Given the description of an element on the screen output the (x, y) to click on. 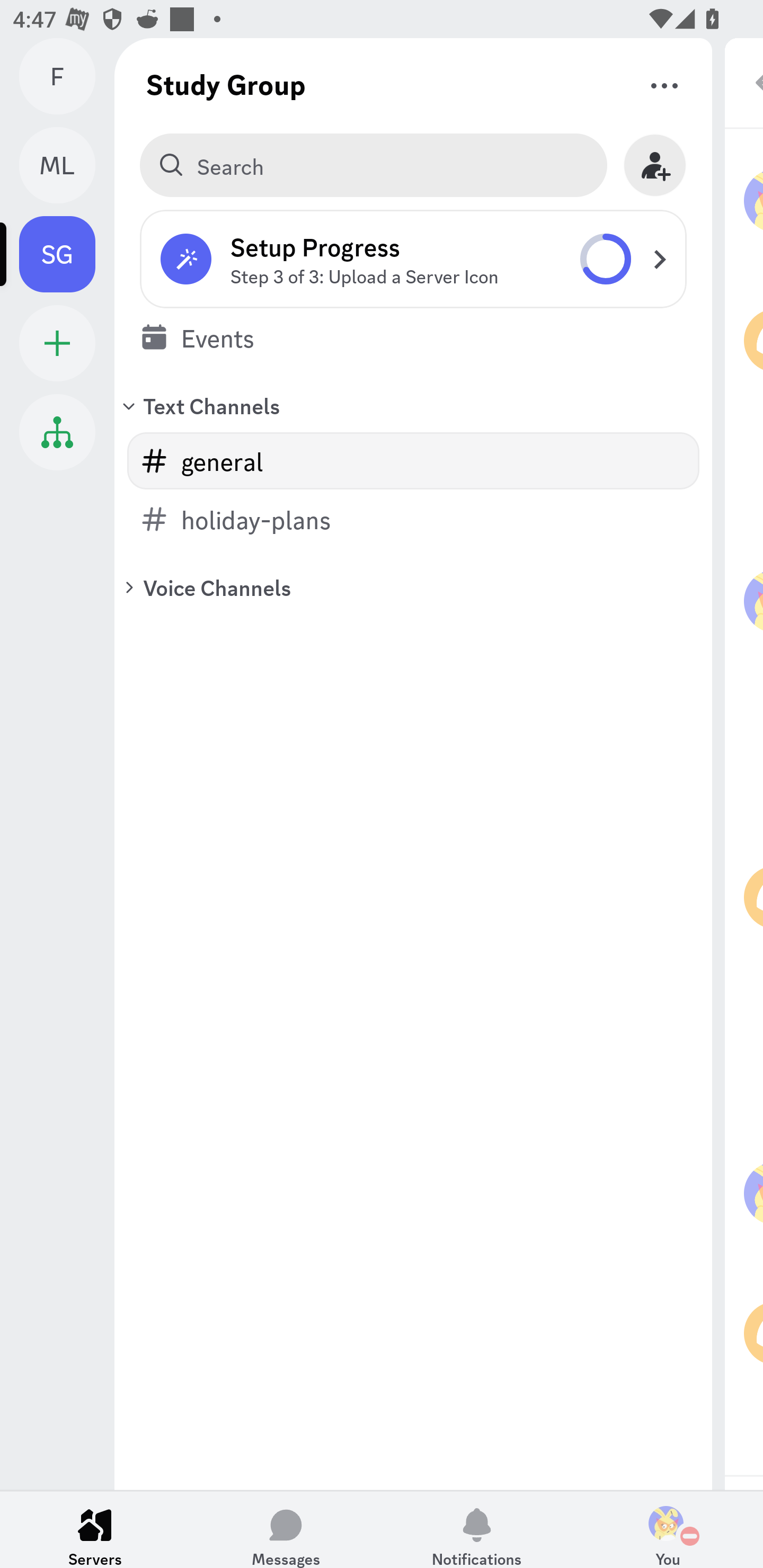
  Friends F (66, 75)
Study Group (226, 83)
  Music Lovers ML (66, 165)
Search (373, 165)
Invite (654, 165)
  Study Group SG (66, 253)
Add a Server (57, 343)
Events (413, 336)
Text Channels (412, 404)
Student Hub (57, 431)
general (text channel) general (413, 460)
holiday-plans (text channel) holiday-plans (413, 518)
Voice Channels (412, 586)
Servers (95, 1529)
Messages (285, 1529)
Notifications (476, 1529)
You (667, 1529)
